Given the description of an element on the screen output the (x, y) to click on. 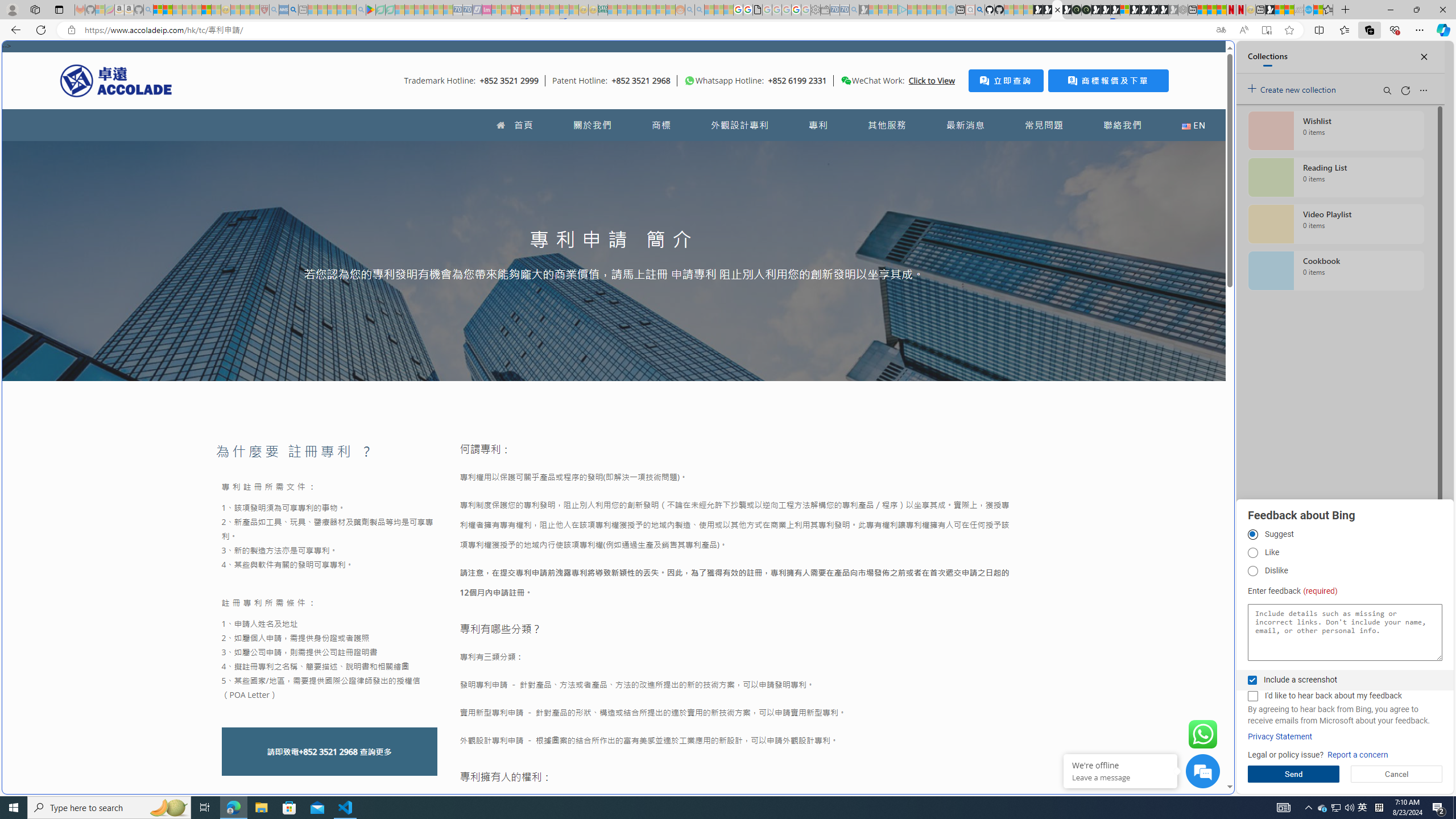
Services - Maintenance | Sky Blue Bikes - Sky Blue Bikes (1307, 9)
Sign in to your account (1124, 9)
